Given the description of an element on the screen output the (x, y) to click on. 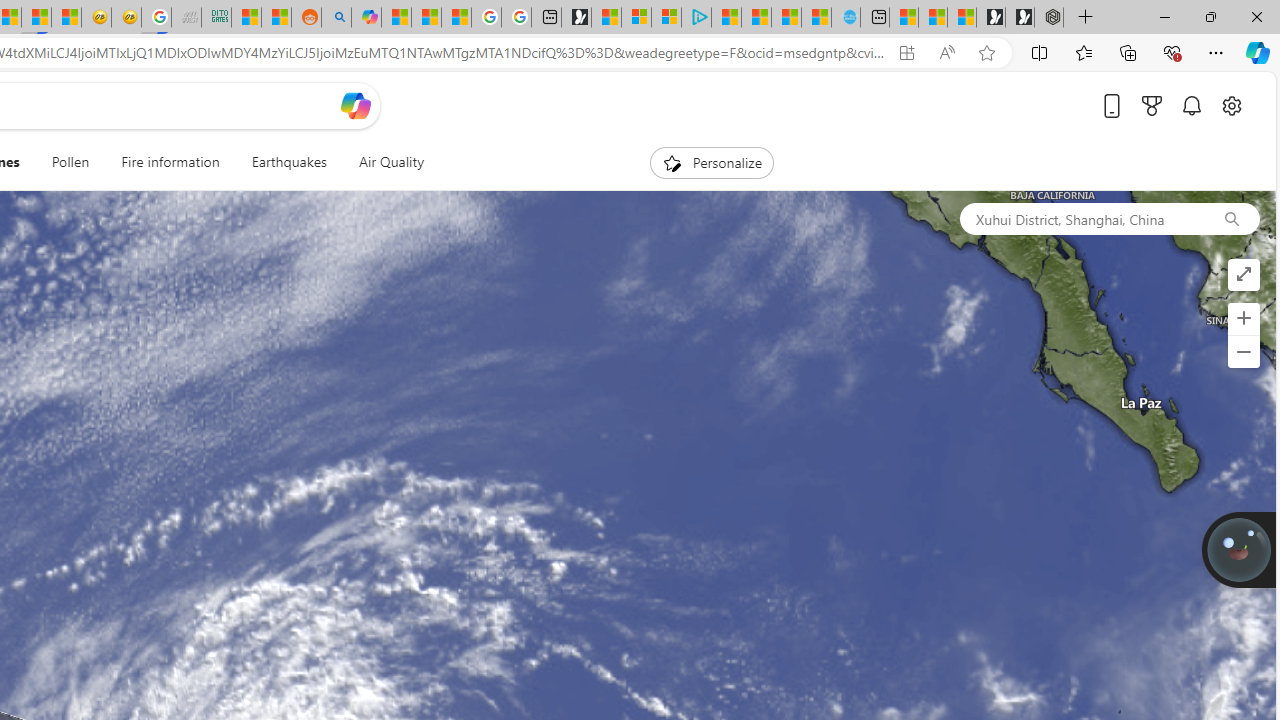
Pollen (70, 162)
Utah sues federal government - Search (336, 17)
Air Quality (390, 162)
